Given the description of an element on the screen output the (x, y) to click on. 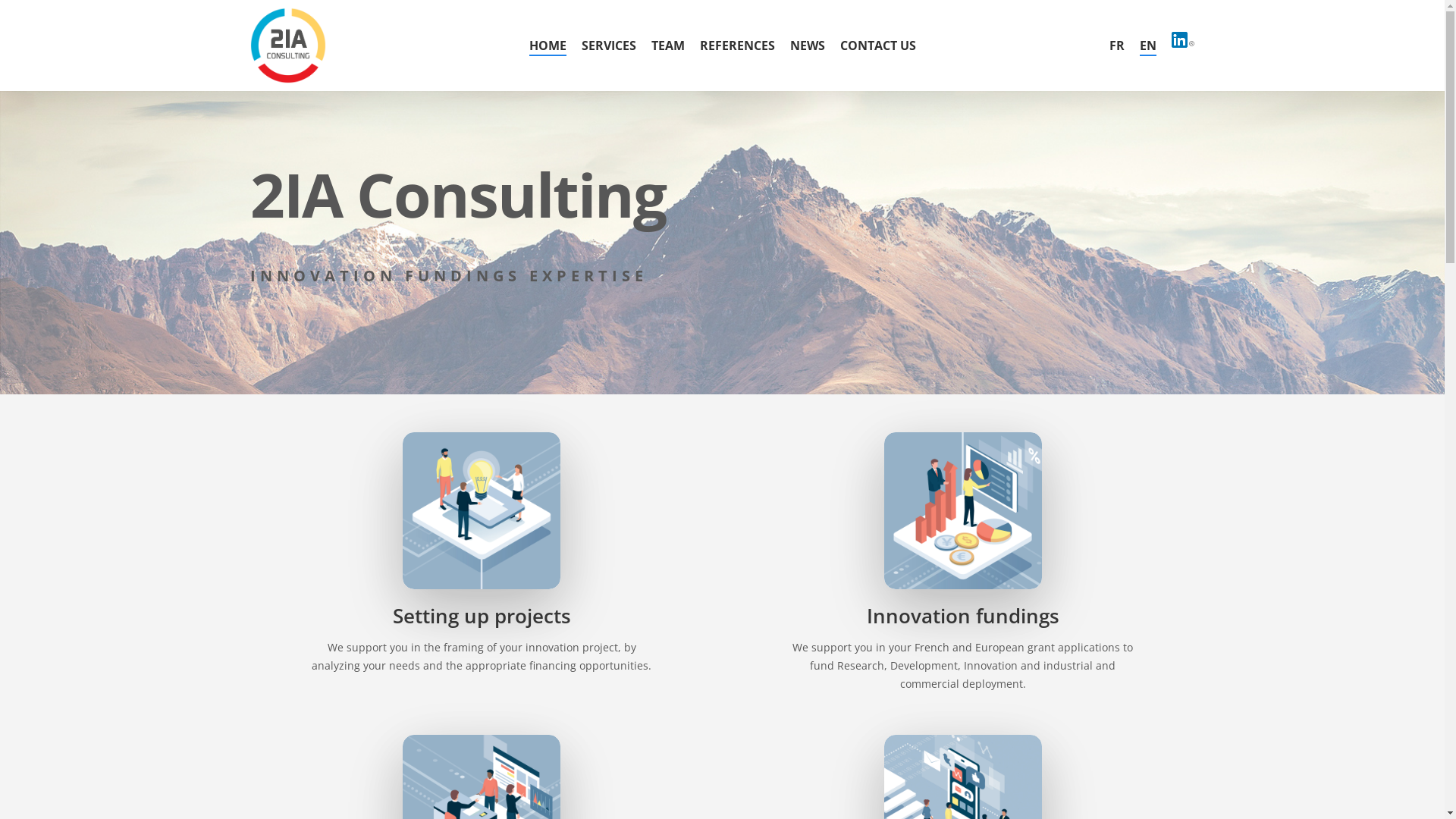
Innovation fundings Element type: text (962, 615)
Setting up projects Element type: text (481, 615)
HOME Element type: text (547, 45)
FR Element type: text (1116, 45)
NEWS Element type: text (807, 45)
EN Element type: text (1147, 45)
CONTACT US Element type: text (878, 45)
TEAM Element type: text (667, 45)
SERVICES Element type: text (607, 45)
REFERENCES Element type: text (736, 45)
